Given the description of an element on the screen output the (x, y) to click on. 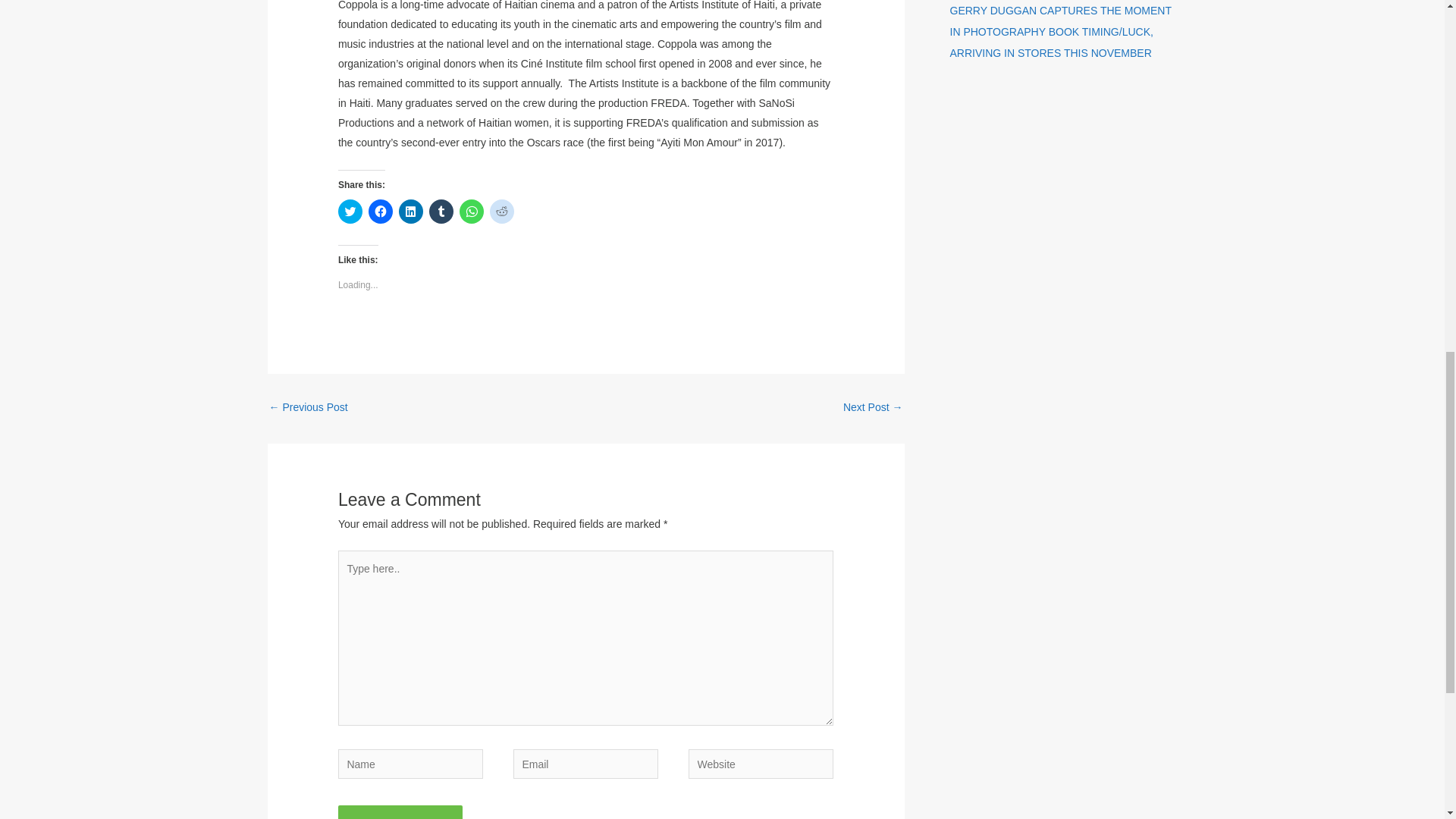
Click to share on WhatsApp (471, 211)
Click to share on Facebook (380, 211)
Click to share on Twitter (349, 211)
The Merriest Nite at Disneyland (307, 408)
Click to share on Reddit (501, 211)
Click to share on Tumblr (440, 211)
Click to share on LinkedIn (410, 211)
